Given the description of an element on the screen output the (x, y) to click on. 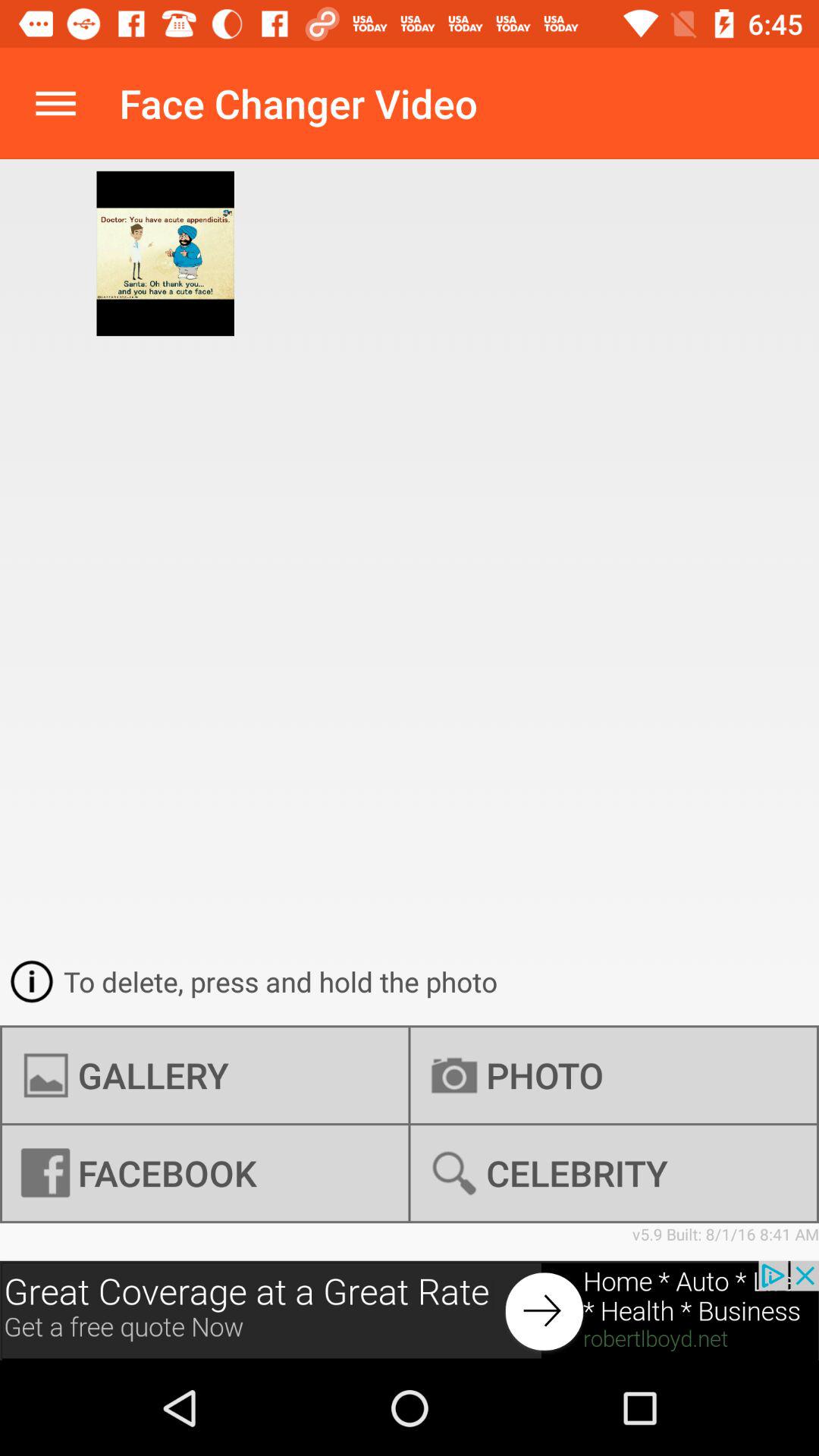
turn off the item to the left of photo icon (205, 1173)
